Given the description of an element on the screen output the (x, y) to click on. 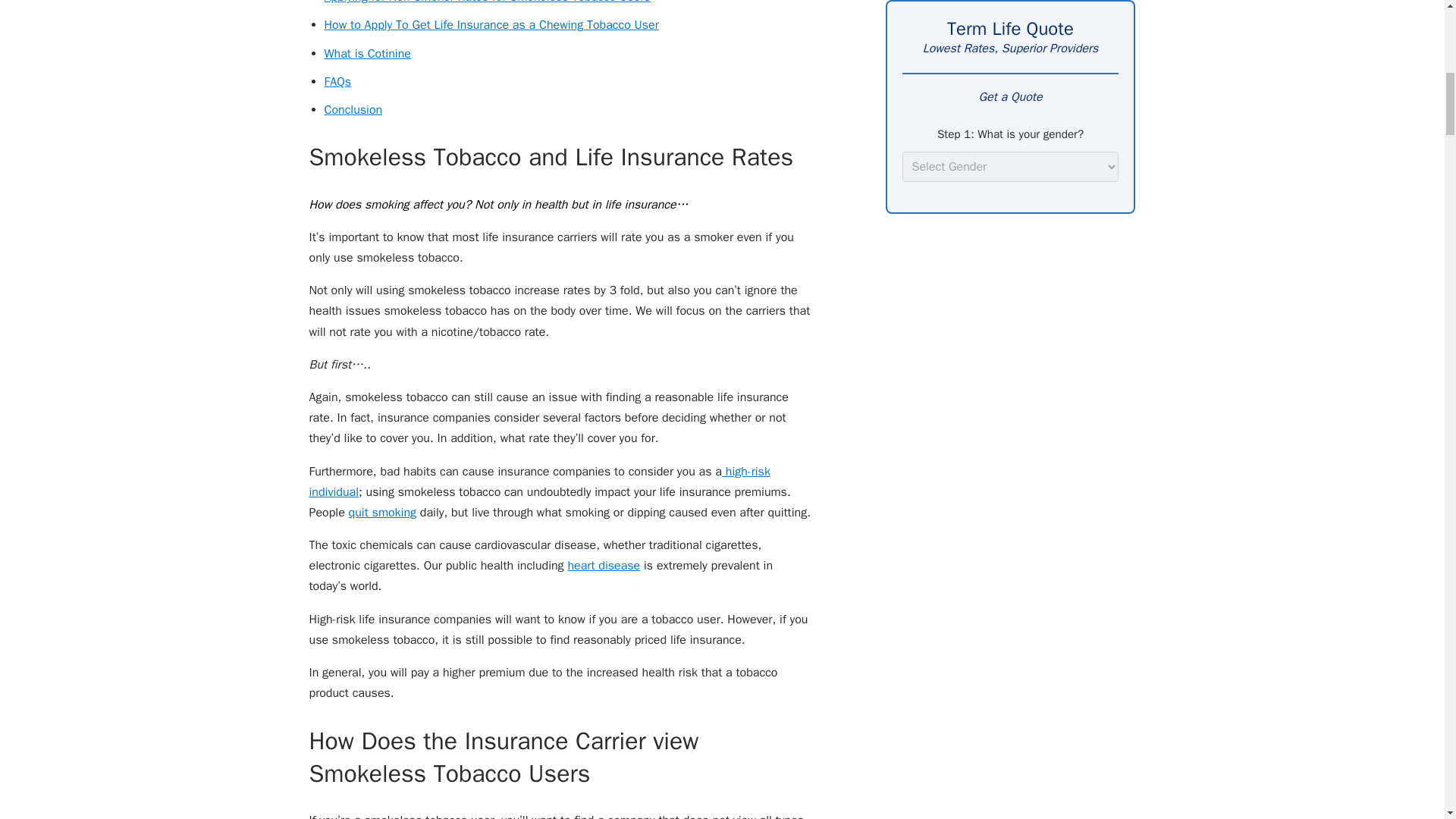
What is Cotinine (367, 53)
How to Apply To Get Life Insurance as a Chewing Tobacco User (491, 24)
heart disease (603, 565)
Applying for Non-Smoker Rates for Smokeless Tobacco Users (487, 2)
quit smoking (382, 512)
Conclusion (353, 109)
FAQs (337, 81)
 high-risk individual (539, 481)
